Given the description of an element on the screen output the (x, y) to click on. 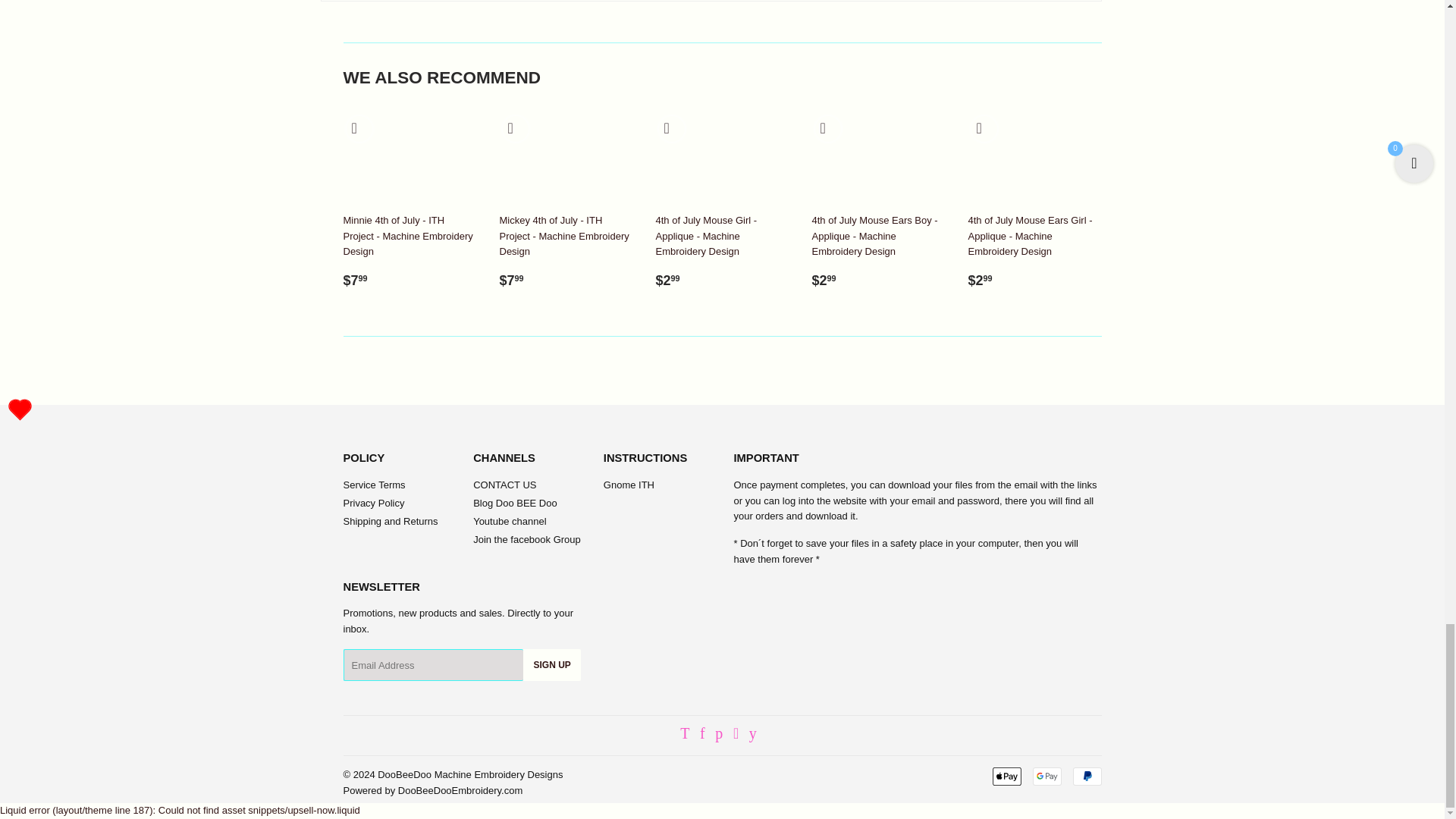
Add to cart (826, 128)
Add to cart (983, 128)
PayPal (1085, 776)
Add to cart (358, 128)
Google Pay (1046, 776)
Apple Pay (1005, 776)
Add to cart (514, 128)
Add to cart (671, 128)
